Given the description of an element on the screen output the (x, y) to click on. 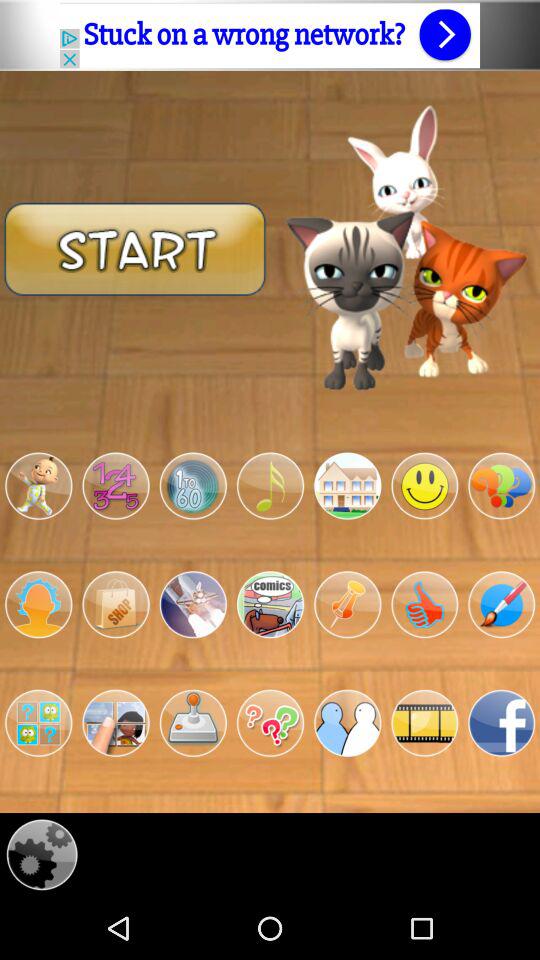
open videos (424, 723)
